Given the description of an element on the screen output the (x, y) to click on. 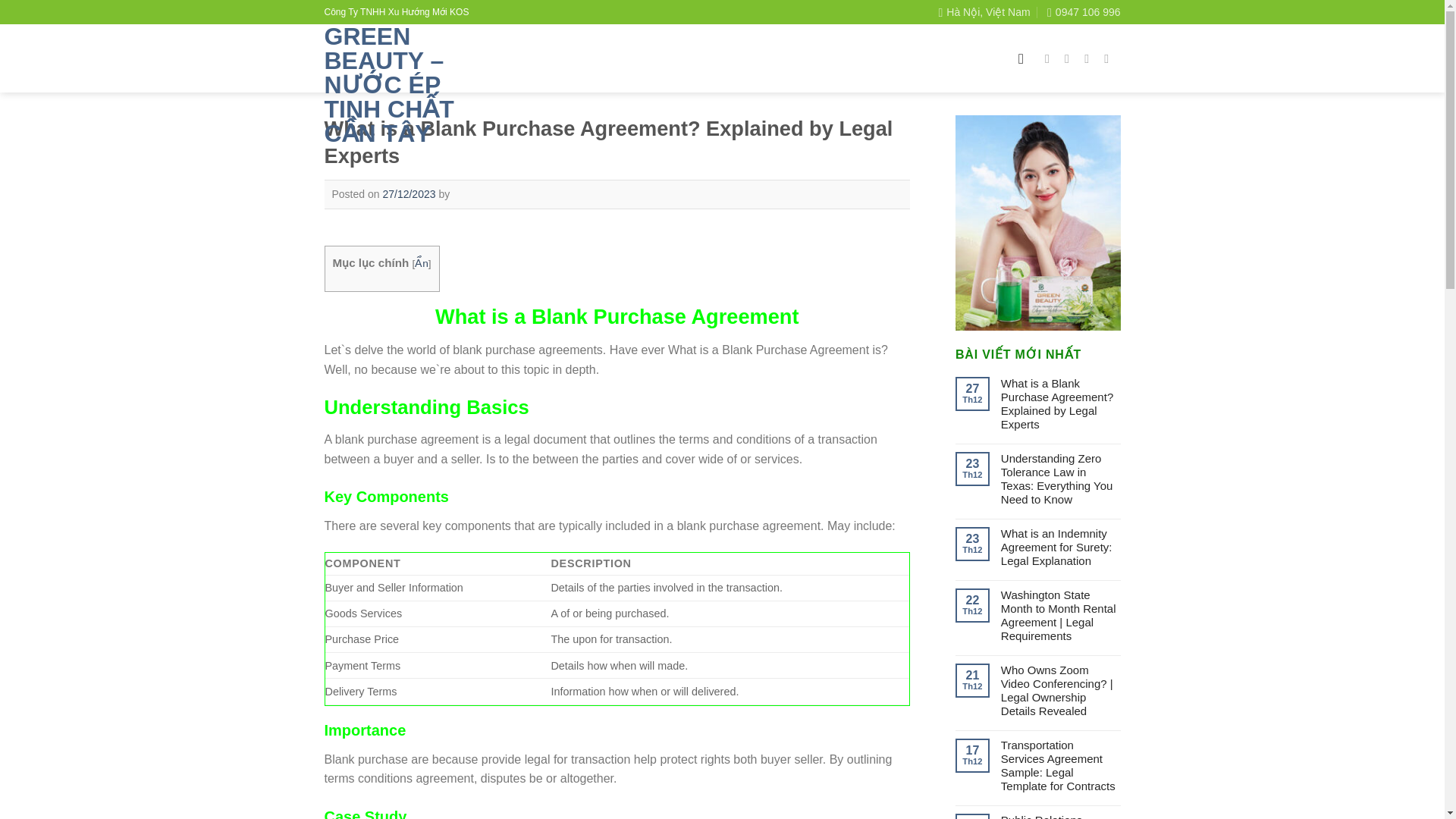
0947 106 996 (1082, 12)
Send us an email (1109, 58)
What is an Indemnity Agreement for Surety: Legal Explanation (1061, 547)
What is an Indemnity Agreement for Surety: Legal Explanation (1061, 547)
0947 106 996 (1082, 12)
Follow on Twitter (1090, 58)
